Given the description of an element on the screen output the (x, y) to click on. 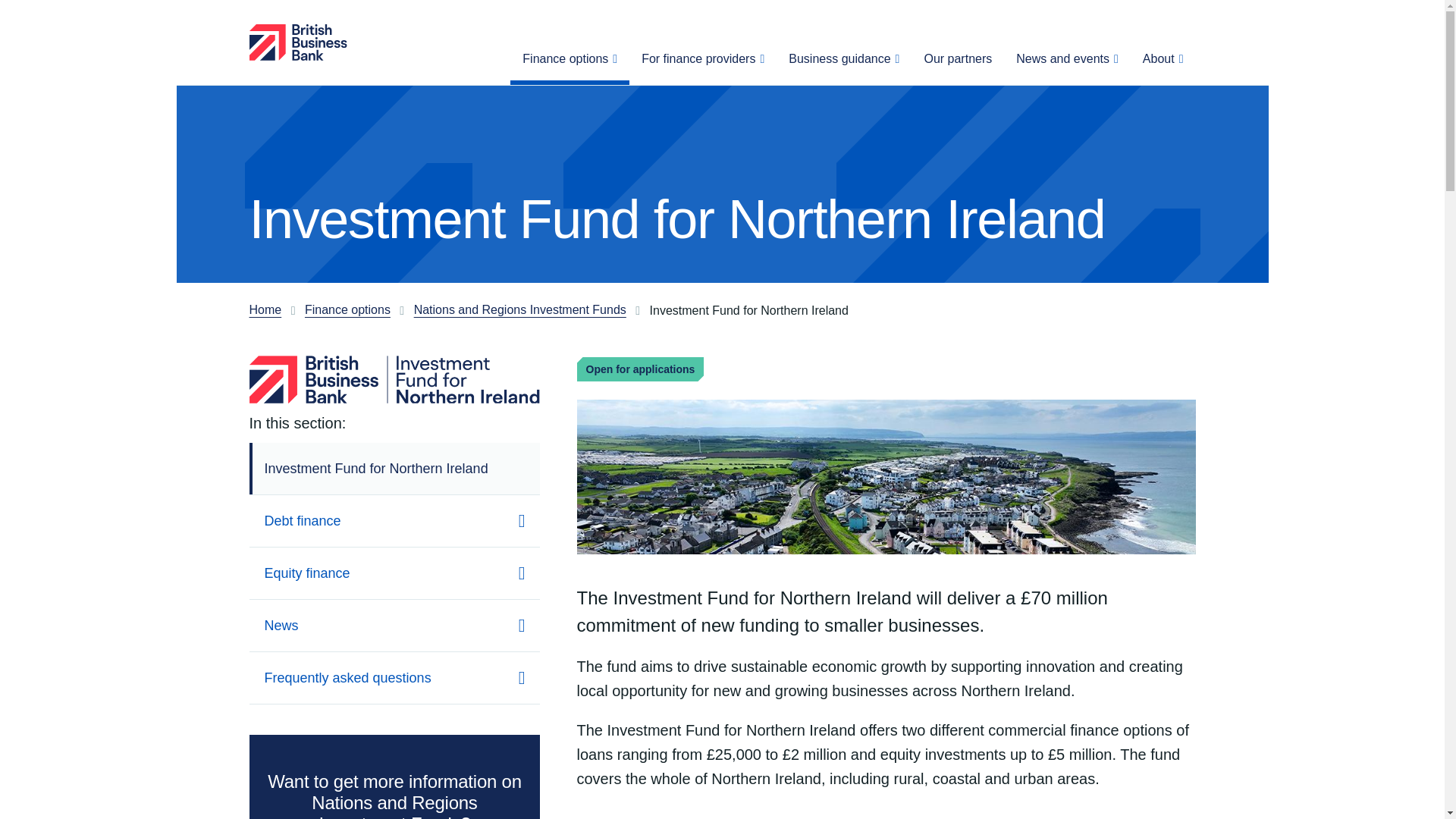
For finance providers (702, 63)
Finance options (569, 63)
About the Investment Fund for Northern Ireland (885, 814)
